Given the description of an element on the screen output the (x, y) to click on. 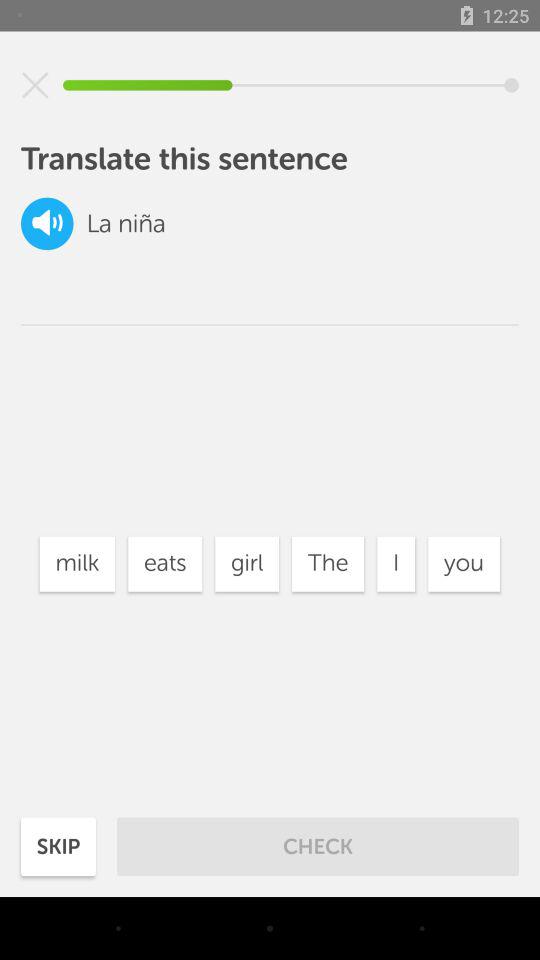
close (35, 85)
